Given the description of an element on the screen output the (x, y) to click on. 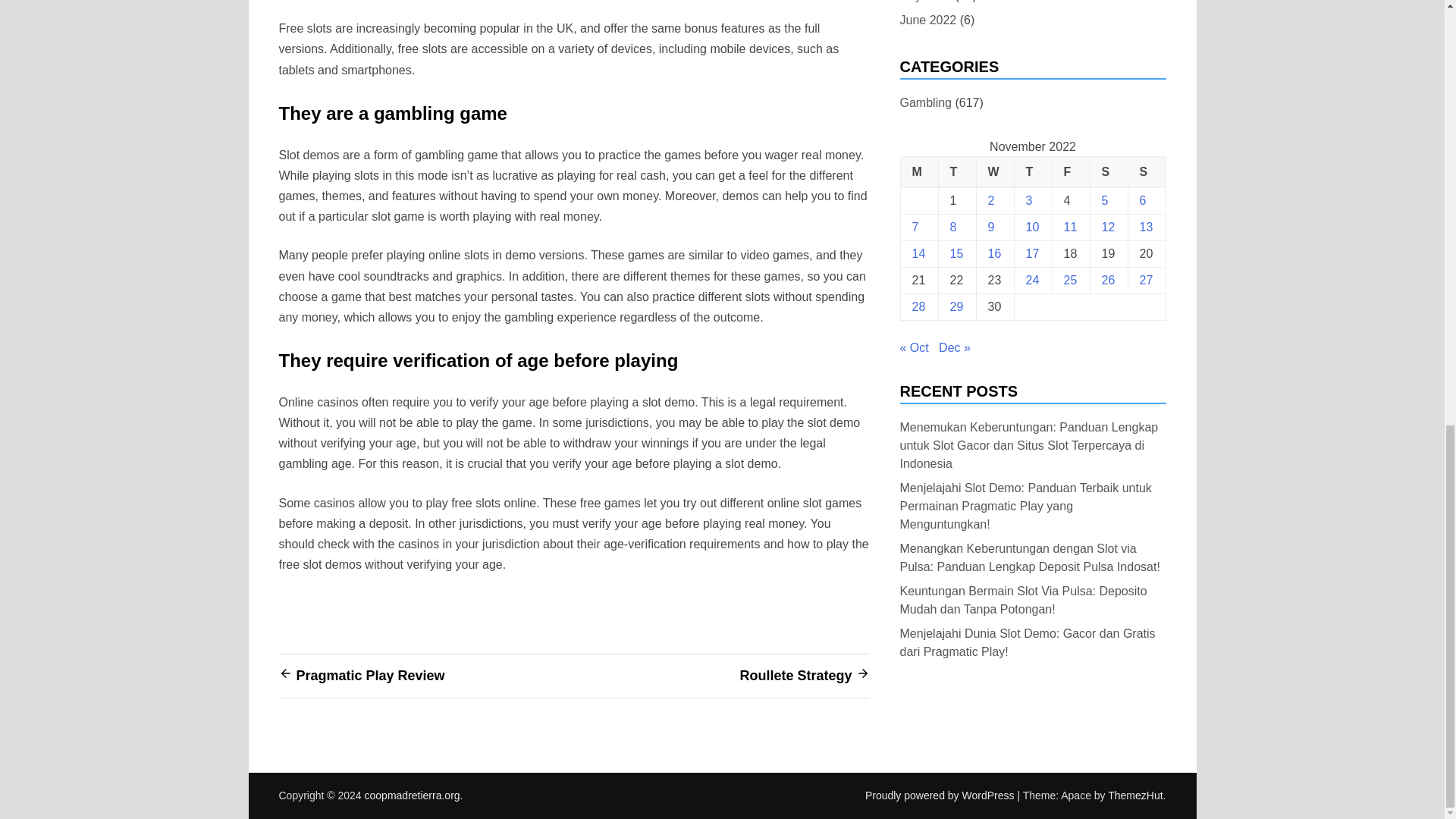
Pragmatic Play Review (369, 675)
Thursday (1032, 172)
Friday (1070, 172)
Roullete Strategy (795, 675)
coopmadretierra.org (412, 795)
July 2022 (925, 2)
Monday (918, 172)
Saturday (1107, 172)
June 2022 (927, 19)
Tuesday (956, 172)
